Given the description of an element on the screen output the (x, y) to click on. 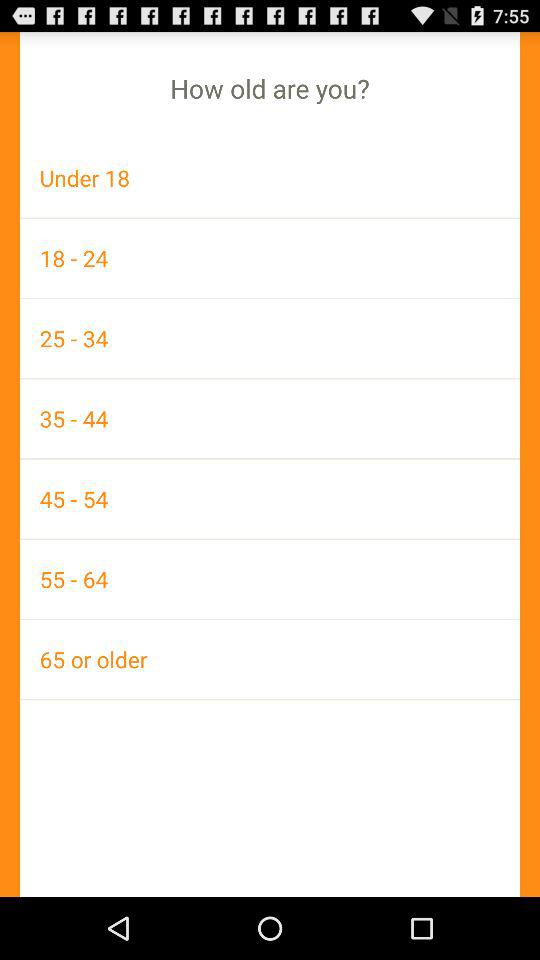
tap the app below the 35 - 44 (269, 498)
